Given the description of an element on the screen output the (x, y) to click on. 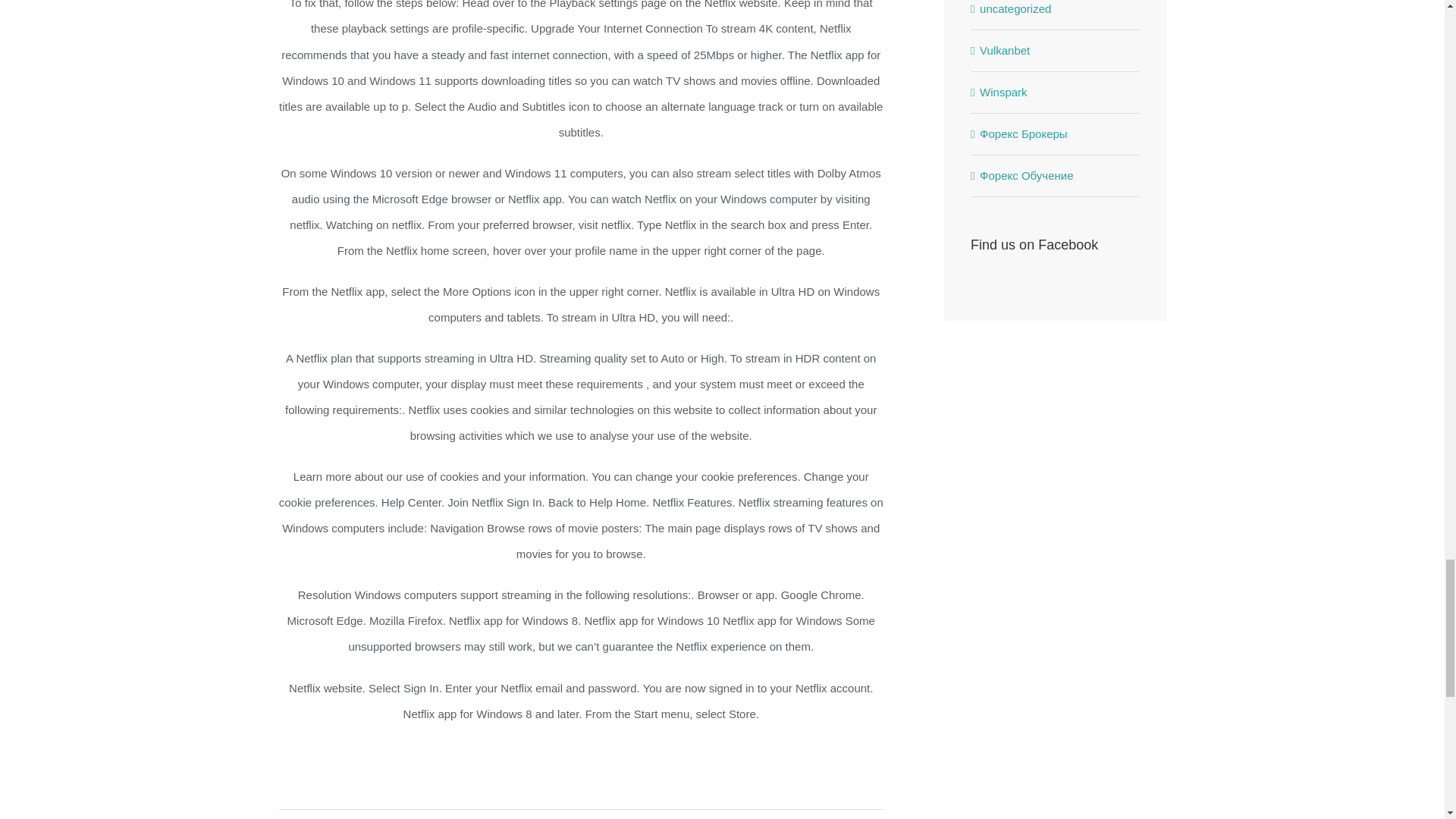
0 Comments (510, 818)
Super Admin (317, 818)
Posts by Super Admin (317, 818)
